Given the description of an element on the screen output the (x, y) to click on. 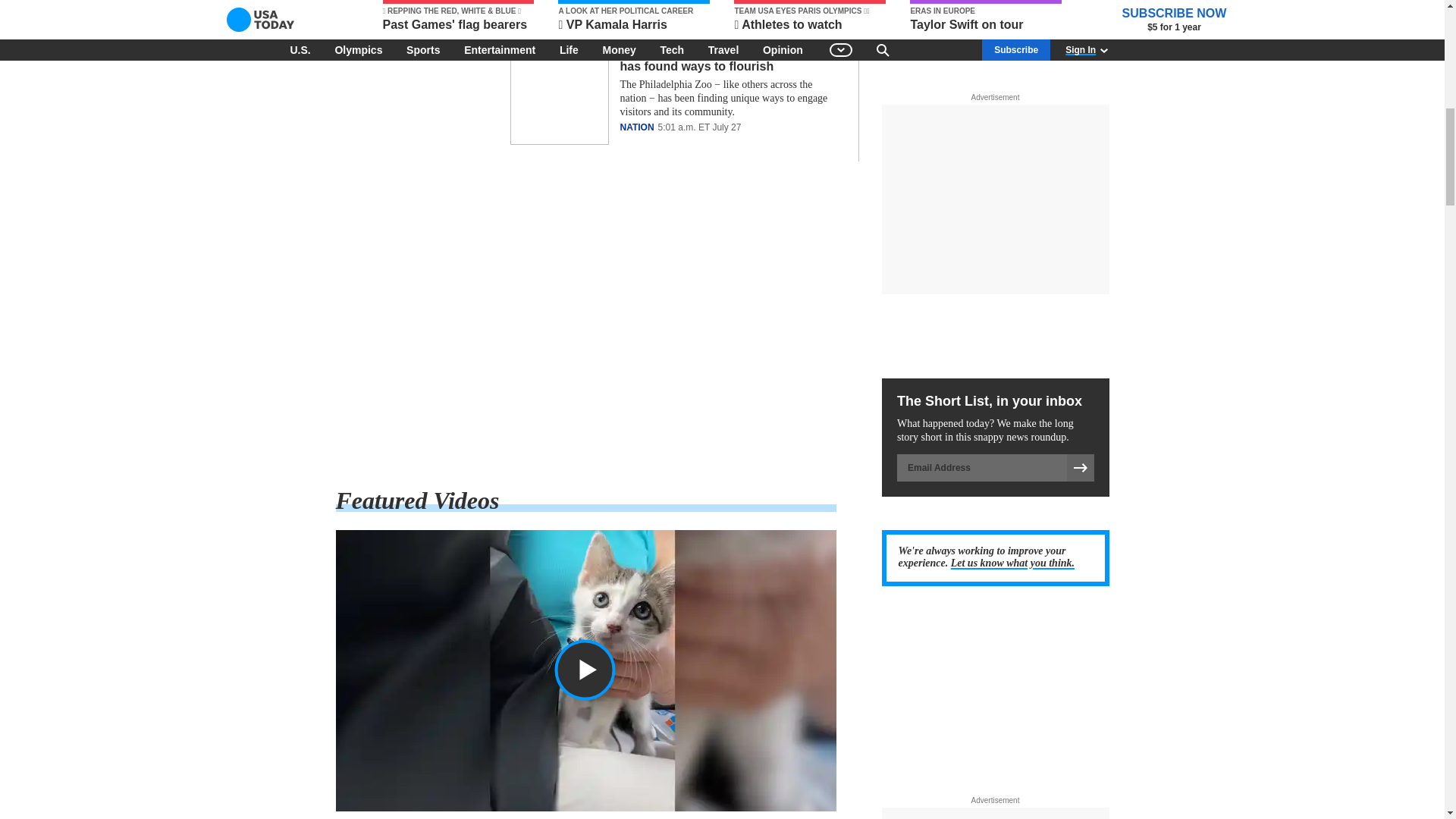
Olympic Results (584, 324)
